Given the description of an element on the screen output the (x, y) to click on. 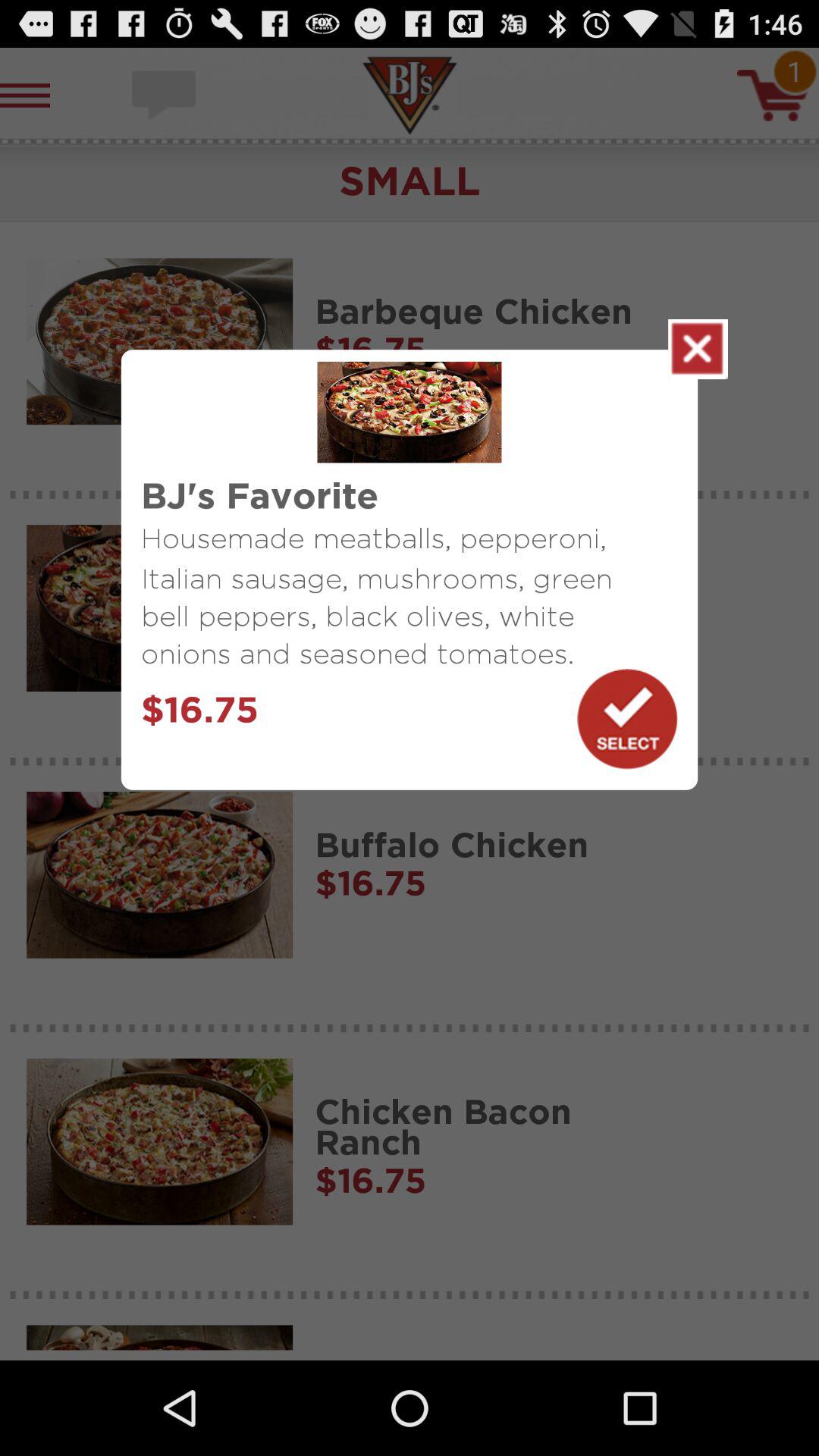
close item (698, 349)
